Given the description of an element on the screen output the (x, y) to click on. 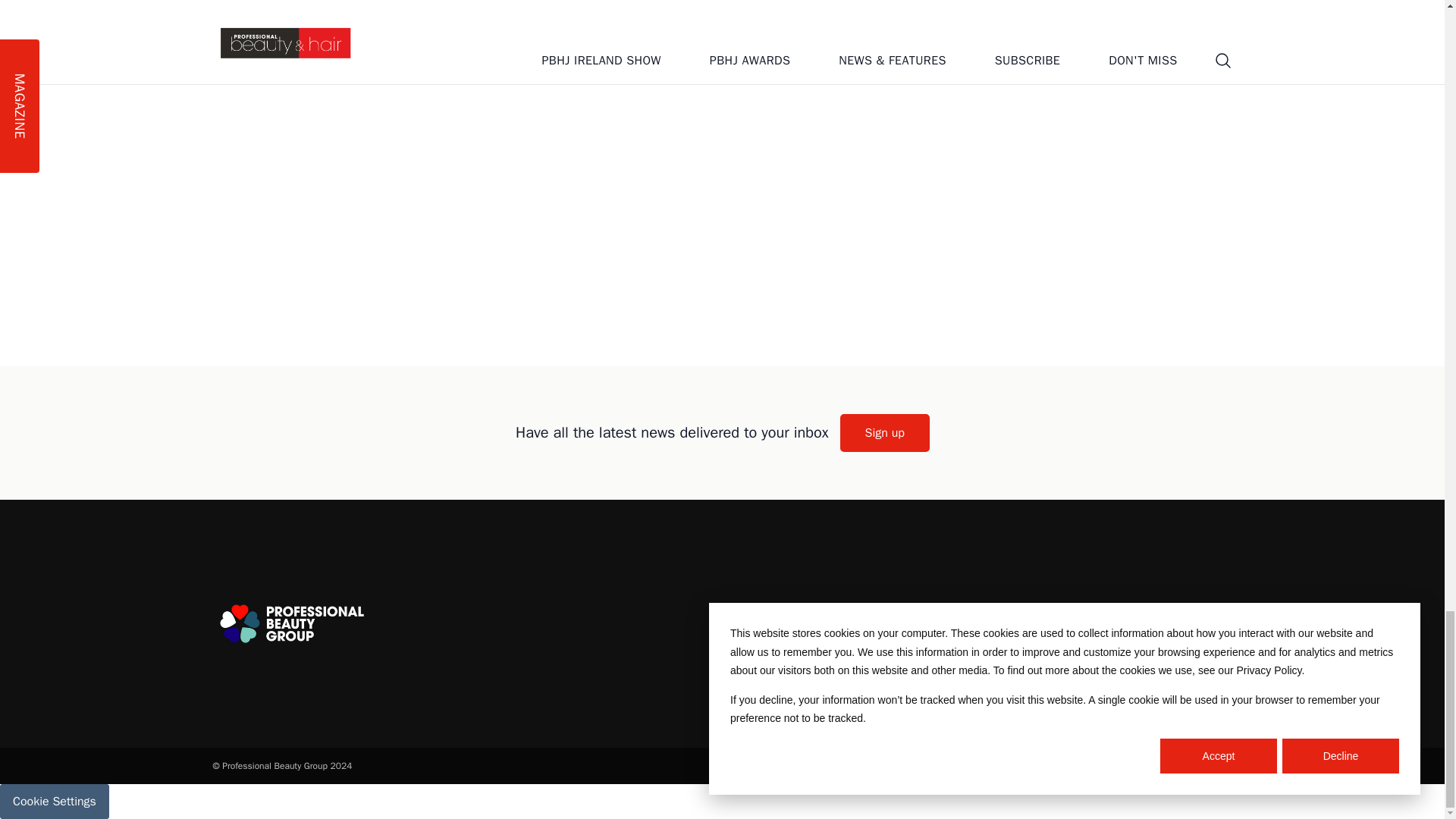
Twitter (1088, 623)
Professional Beauty Group (290, 623)
Sign up (884, 432)
Facebook (1131, 623)
3rd party ad content (721, 283)
